Given the description of an element on the screen output the (x, y) to click on. 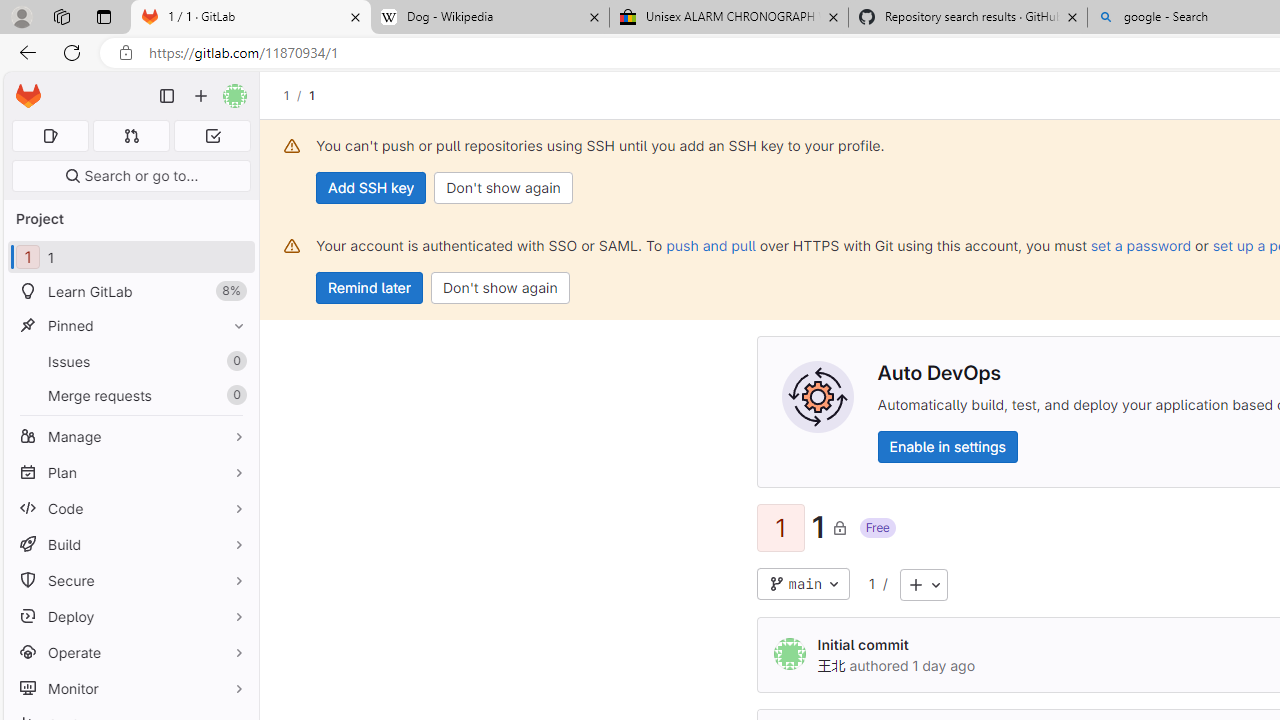
Add to tree (923, 584)
Class: s16 icon (838, 527)
Unpin Merge requests (234, 395)
Merge requests 0 (130, 394)
1/ (296, 95)
Build (130, 543)
Plan (130, 471)
Manage (130, 435)
Code (130, 507)
push and pull (710, 245)
To-Do list 0 (212, 136)
